Given the description of an element on the screen output the (x, y) to click on. 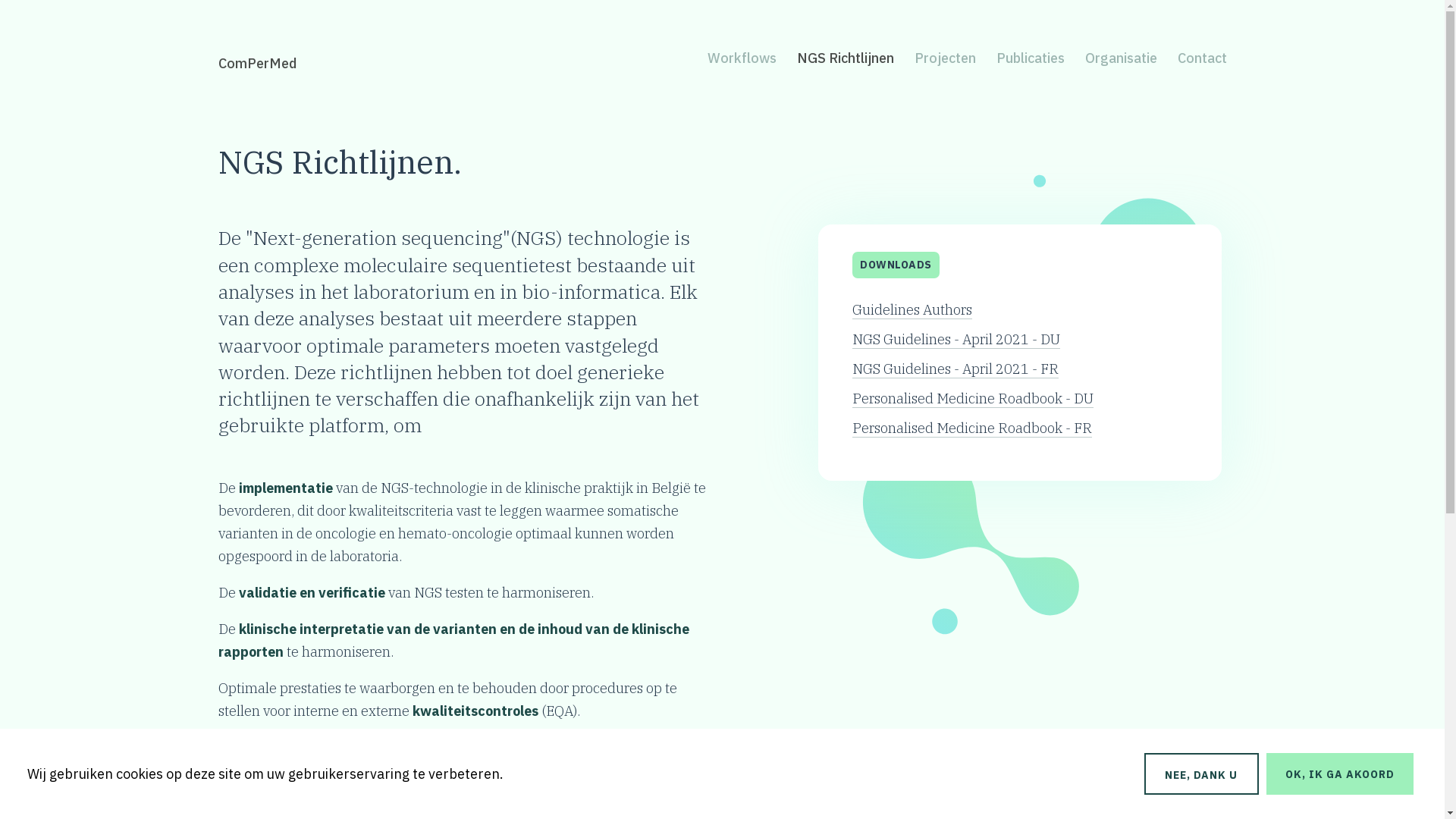
NEE, DANK U Element type: text (1201, 773)
OK, IK GA AKOORD Element type: text (1339, 773)
ComPerMed Element type: text (256, 62)
Personalised Medicine Roadbook - FR Element type: text (972, 428)
Organisatie Element type: text (1120, 57)
Contact Element type: text (1201, 57)
NGS Richtlijnen Element type: text (844, 57)
Workflows Element type: text (741, 57)
NGS Guidelines - April 2021 - FR Element type: text (955, 369)
NGS Guidelines - April 2021 - DU Element type: text (956, 339)
Projecten Element type: text (944, 57)
Personalised Medicine Roadbook - DU Element type: text (972, 398)
Publicaties Element type: text (1029, 57)
Guidelines Authors Element type: text (912, 310)
